Given the description of an element on the screen output the (x, y) to click on. 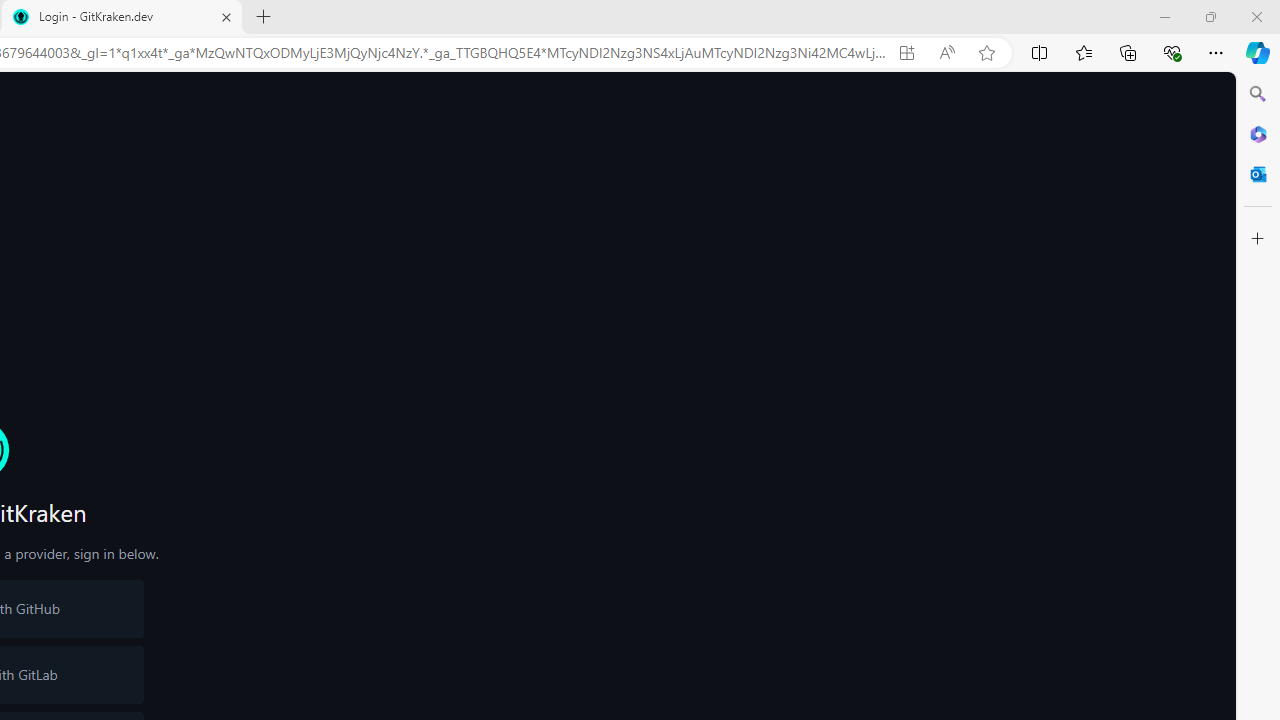
App available. Install GitKraken.dev (906, 53)
